Given the description of an element on the screen output the (x, y) to click on. 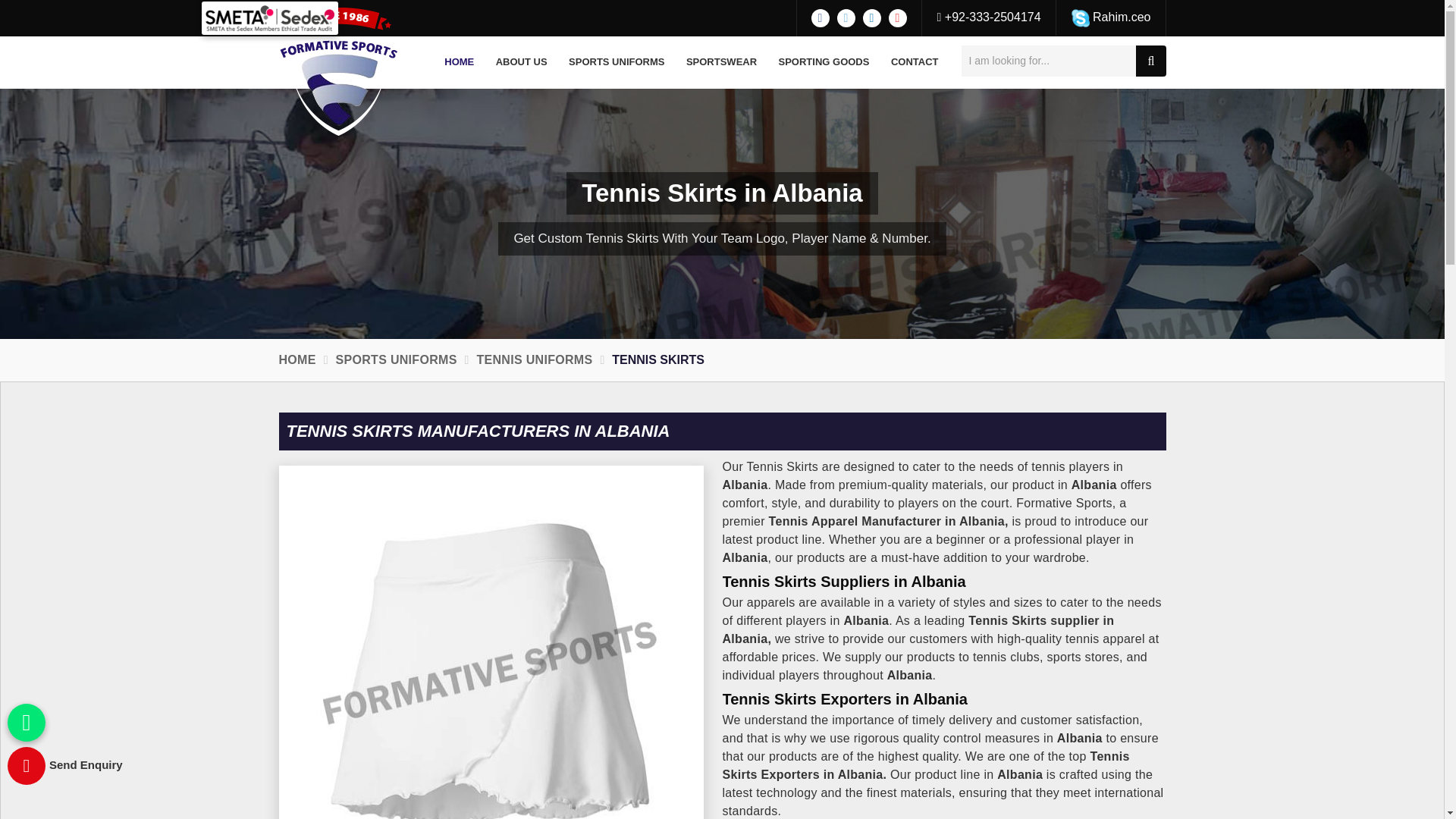
skype (1080, 18)
ABOUT US (521, 62)
Facebook (819, 18)
Proud to be Sedex Member (269, 17)
Home (459, 62)
About Us (521, 62)
Pinterest (897, 18)
Rahim.ceo (1111, 18)
SPORTS UNIFORMS (615, 62)
Formative Sports (338, 71)
